Given the description of an element on the screen output the (x, y) to click on. 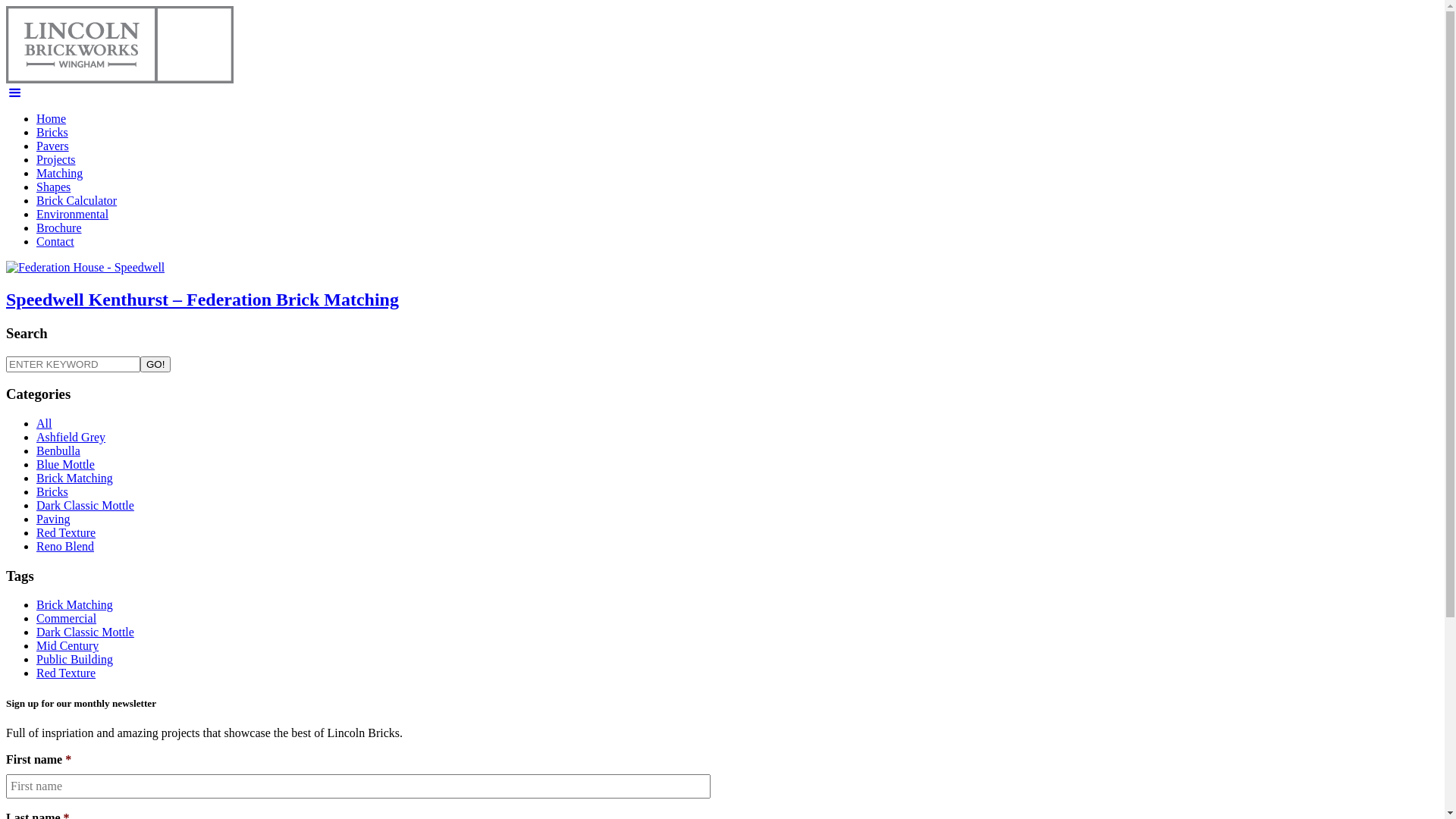
GO! Element type: text (155, 364)
Contact Element type: text (55, 241)
Toggle menu Element type: hover (14, 92)
Brochure Element type: text (58, 227)
Shapes Element type: text (53, 186)
Commercial Element type: text (66, 617)
Brick Matching Element type: text (74, 477)
Blue Mottle Element type: text (65, 464)
Mid Century Element type: text (67, 645)
Dark Classic Mottle Element type: text (85, 631)
Matching Element type: text (59, 172)
All Element type: text (43, 423)
Public Building Element type: text (74, 658)
Home Element type: text (50, 118)
Pavers Element type: text (52, 145)
Bricks Element type: text (52, 131)
Bricks Element type: text (52, 491)
Brick Calculator Element type: text (76, 200)
Red Texture Element type: text (65, 672)
Environmental Element type: text (72, 213)
Ashfield Grey Element type: text (70, 436)
Lincoln Bricks Element type: hover (119, 78)
Benbulla Element type: text (58, 450)
Paving Element type: text (52, 518)
Dark Classic Mottle Element type: text (85, 504)
Projects Element type: text (55, 159)
Red Texture Element type: text (65, 532)
Reno Blend Element type: text (65, 545)
Brick Matching Element type: text (74, 604)
